Given the description of an element on the screen output the (x, y) to click on. 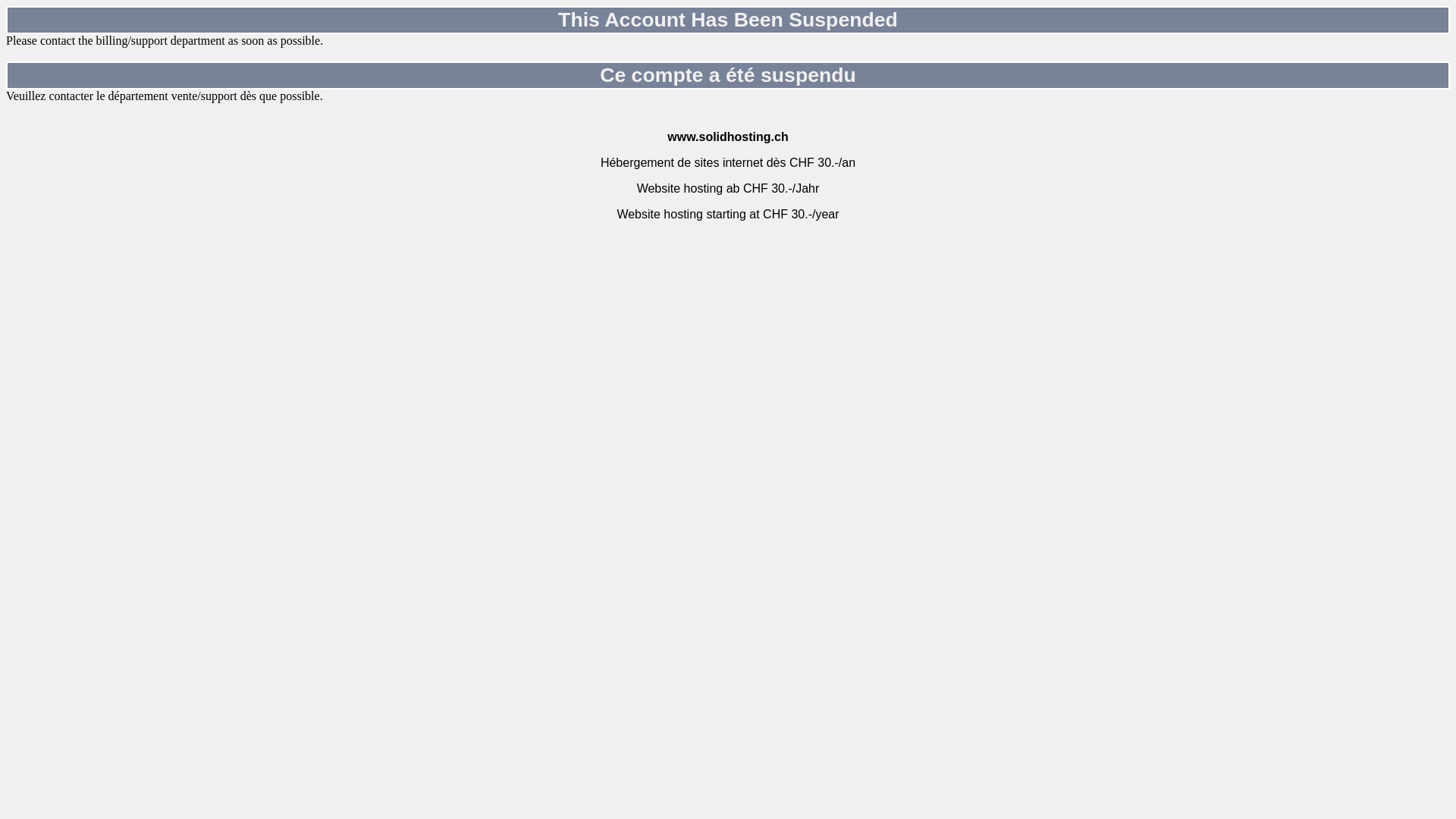
www.solidhosting.ch Element type: text (727, 136)
